Given the description of an element on the screen output the (x, y) to click on. 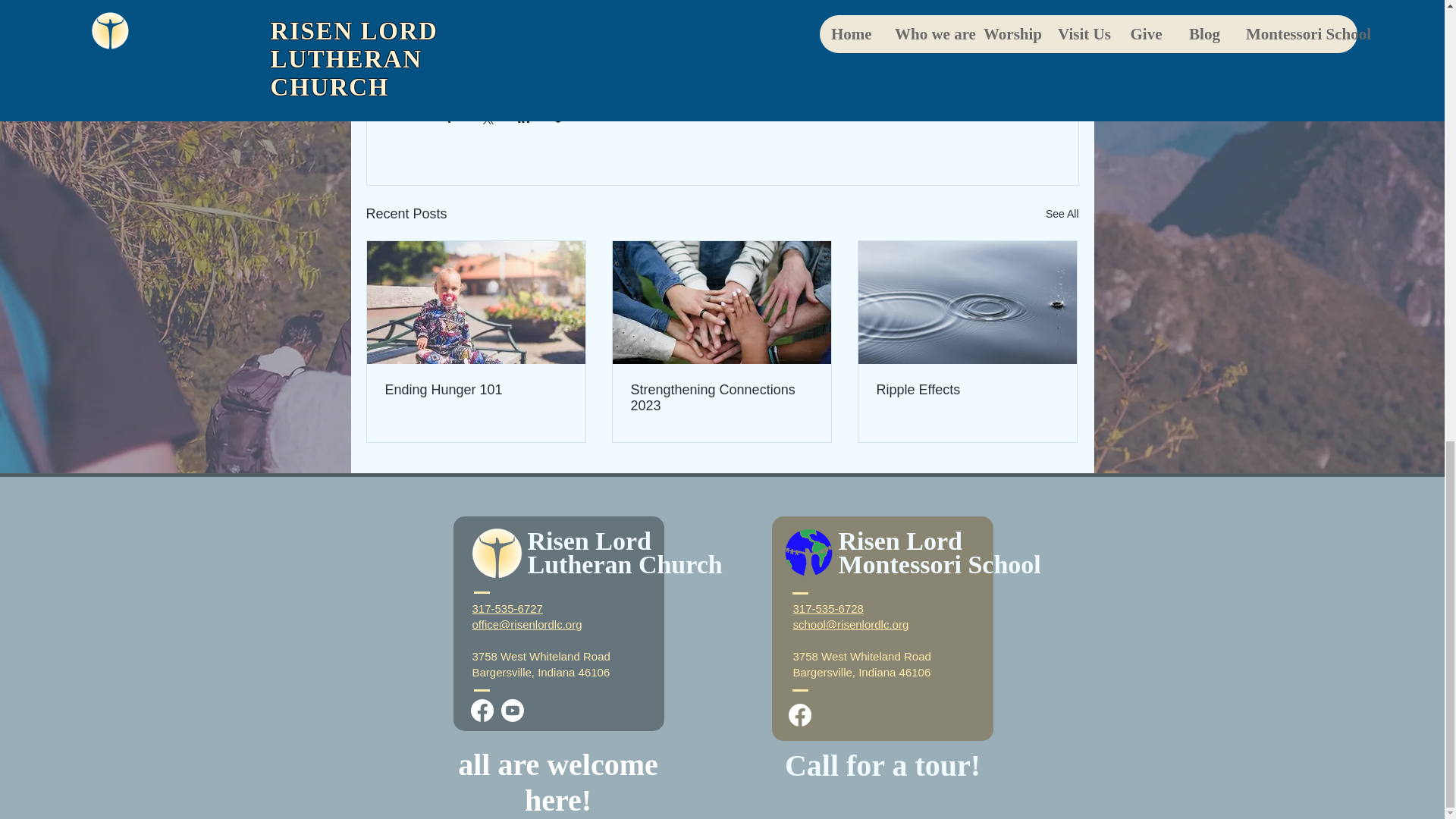
317-535-6727 (506, 608)
Strengthening Connections 2023 (721, 398)
317-535-6728 (828, 608)
See All (1061, 214)
Ripple Effects (967, 390)
Ending Hunger 101 (476, 390)
